Given the description of an element on the screen output the (x, y) to click on. 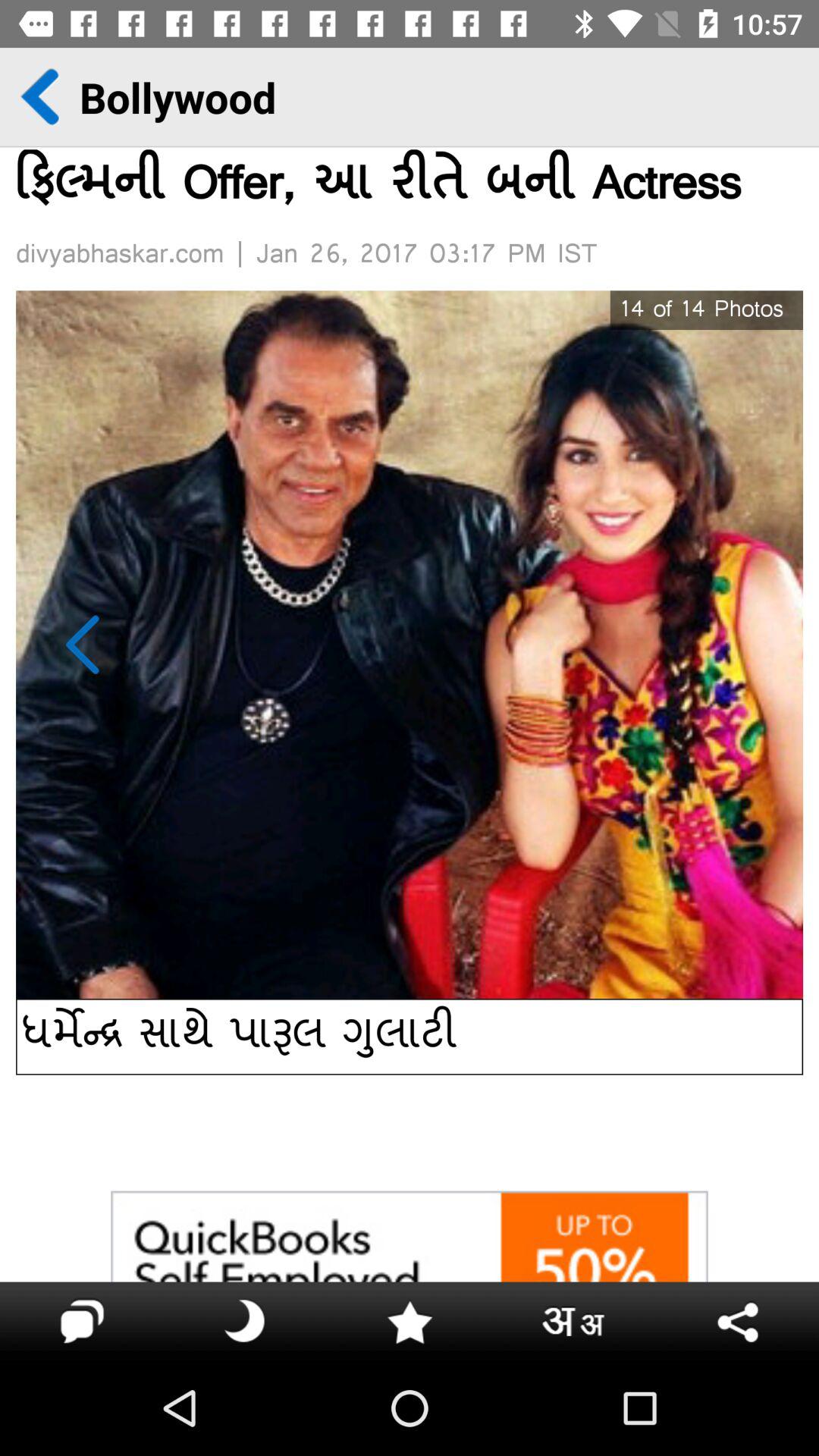
click the icon on the right next next to the chat icon on the bottom left corner of the web page (245, 1320)
